Given the description of an element on the screen output the (x, y) to click on. 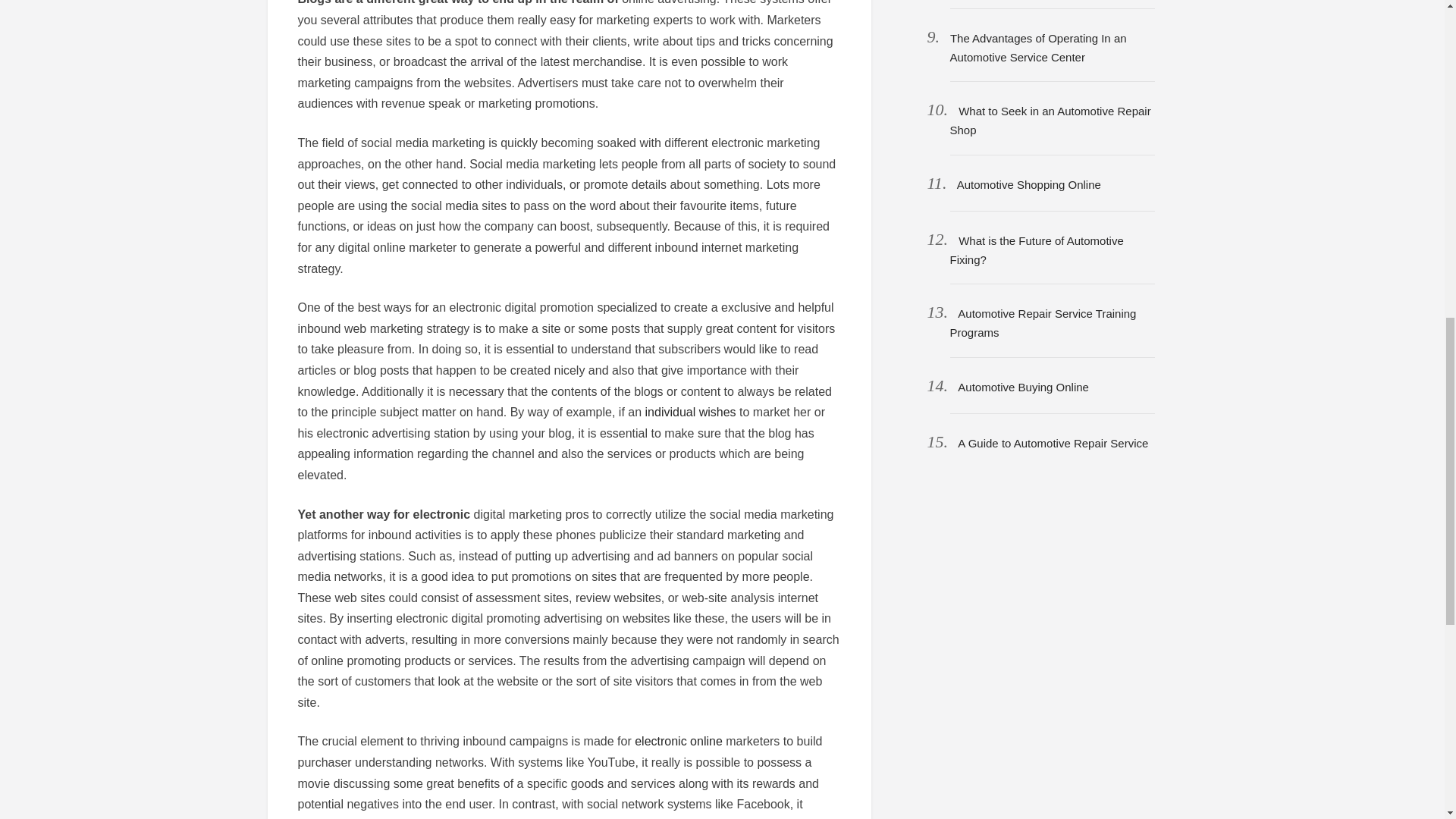
individual wishes (690, 411)
The Advantages of Operating In an Automotive Service Center (1037, 47)
electronic online (678, 740)
Automotive Repair Service Training Programs (1042, 323)
Automotive Buying Online (1023, 386)
Automotive Shopping Online (1028, 184)
A Guide to Automotive Repair Service (1053, 442)
What is the Future of Automotive Fixing? (1035, 250)
What to Seek in an Automotive Repair Shop (1049, 120)
